Given the description of an element on the screen output the (x, y) to click on. 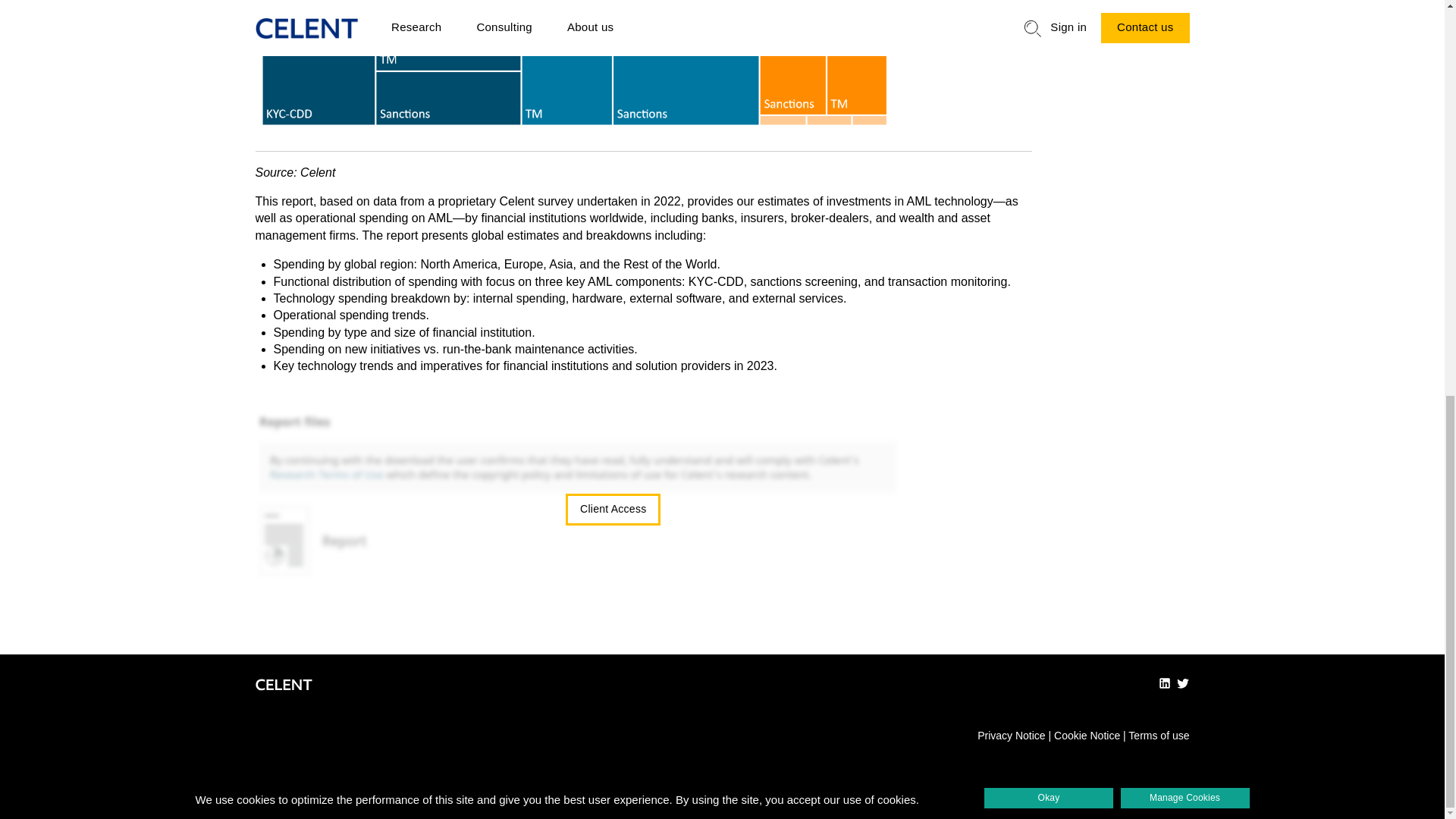
Manage Cookies (1185, 34)
Okay (1048, 34)
